Given the description of an element on the screen output the (x, y) to click on. 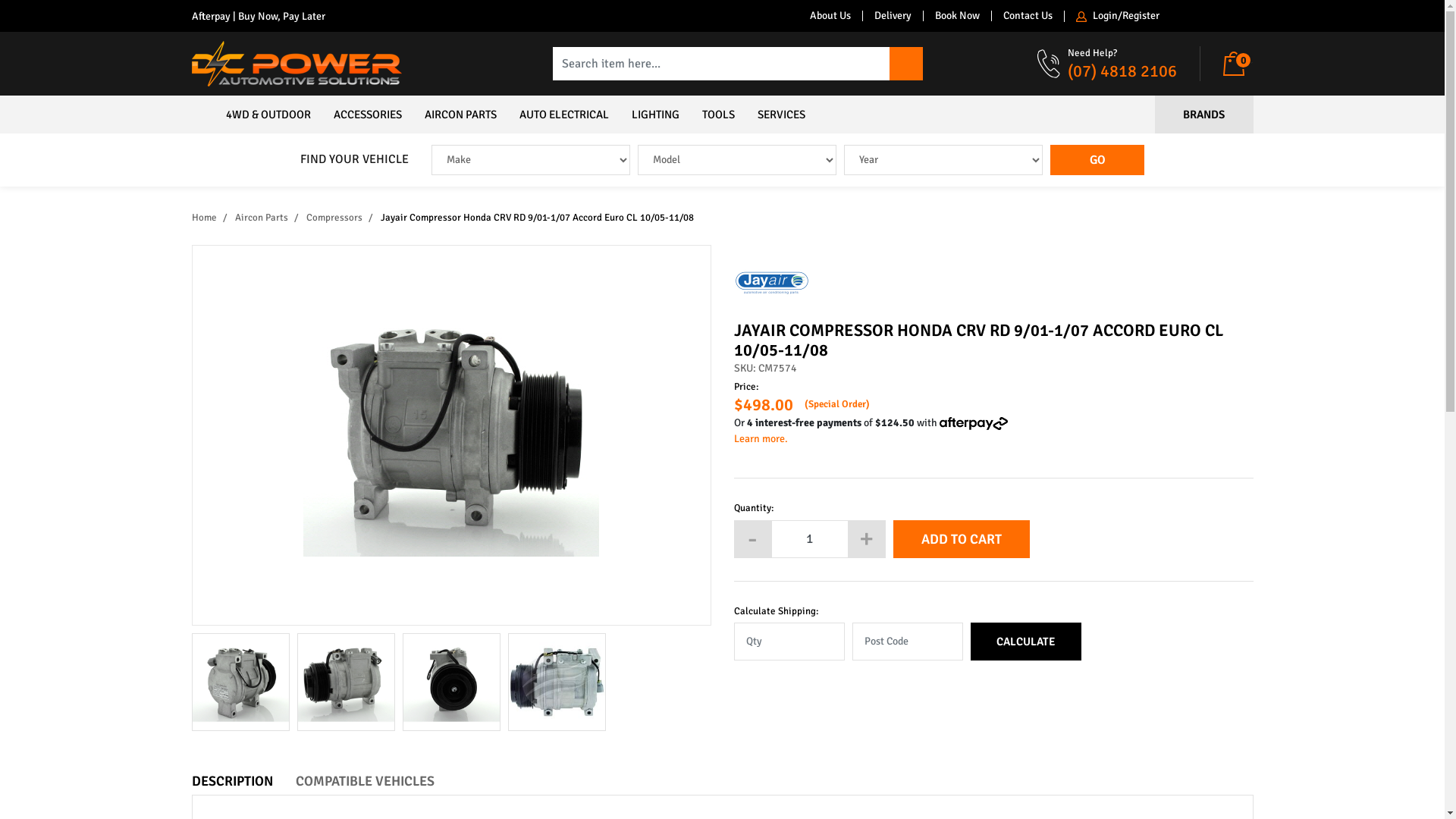
4WD & OUTDOOR Element type: text (267, 114)
AUTO ELECTRICAL Element type: text (564, 114)
Skip to main content Element type: text (0, 186)
Aircon Parts Element type: text (261, 217)
SERVICES Element type: text (781, 114)
About Us Element type: text (829, 15)
Jayair Element type: hover (771, 282)
Home Element type: text (203, 217)
Delivery Element type: text (891, 15)
COMPATIBLE VEHICLES Element type: text (364, 780)
CALCULATE Element type: text (1025, 641)
DESCRIPTION Element type: text (231, 780)
Search Element type: text (905, 63)
Login/Register Element type: text (1116, 15)
Book Now Element type: text (956, 15)
BRANDS Element type: text (1203, 114)
Compressors Element type: text (334, 217)
LIGHTING Element type: text (655, 114)
ADD TO CART Element type: text (961, 539)
+ Element type: text (866, 539)
TOOLS Element type: text (717, 114)
GO Element type: text (1097, 159)
(07) 4818 2106 Element type: text (1121, 70)
ACCESSORIES Element type: text (366, 114)
- Element type: text (752, 539)
AIRCON PARTS Element type: text (459, 114)
Contact Us Element type: text (1026, 15)
0 Element type: text (1237, 63)
DC Power Automotive Solutions Element type: hover (296, 62)
Learn more. Element type: text (993, 438)
